Given the description of an element on the screen output the (x, y) to click on. 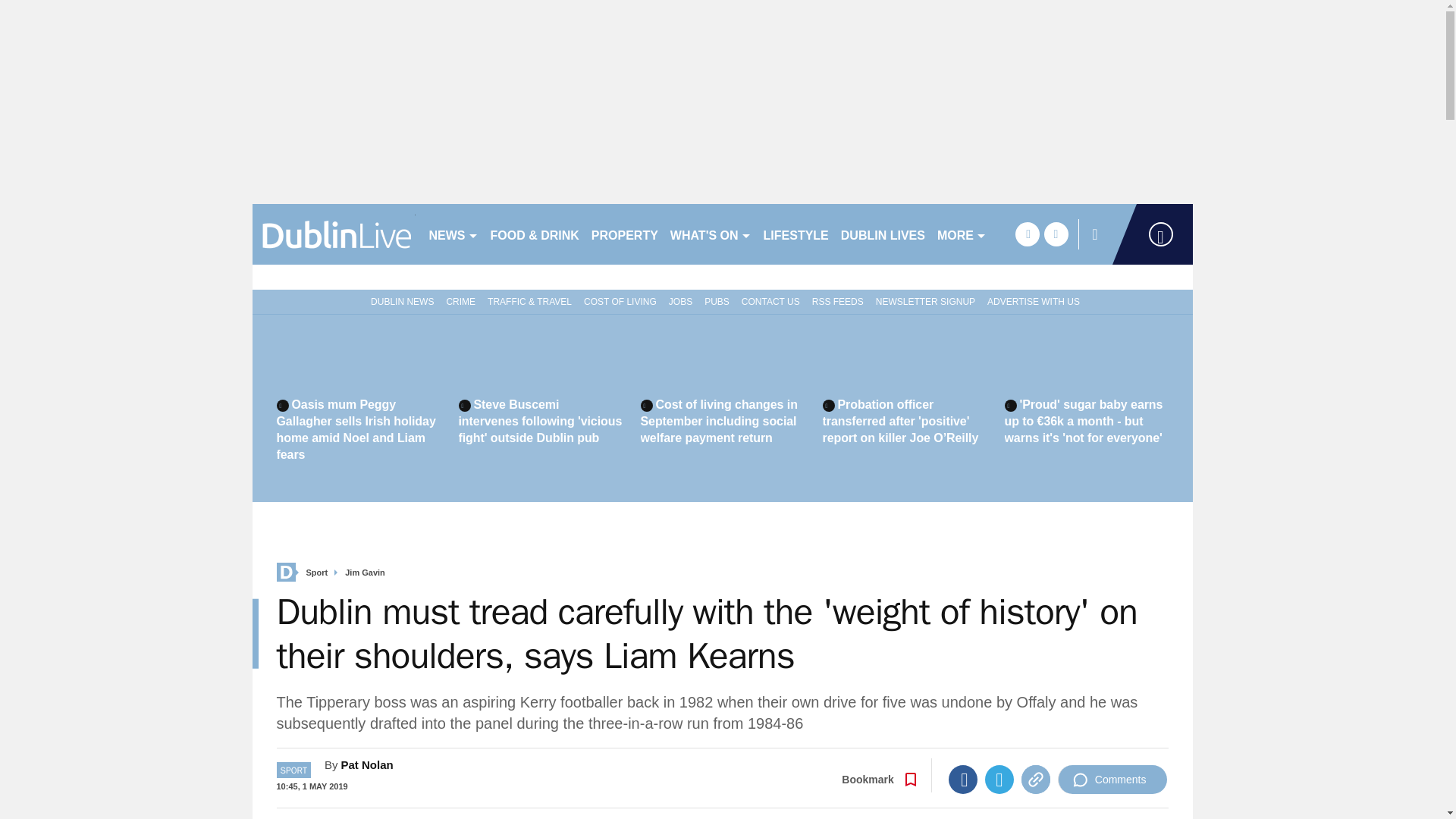
Twitter (999, 778)
PROPERTY (624, 233)
WHAT'S ON (710, 233)
Facebook (962, 778)
dublinlive (332, 233)
DUBLIN LIVES (882, 233)
facebook (1026, 233)
NEWS (453, 233)
twitter (1055, 233)
MORE (961, 233)
